Given the description of an element on the screen output the (x, y) to click on. 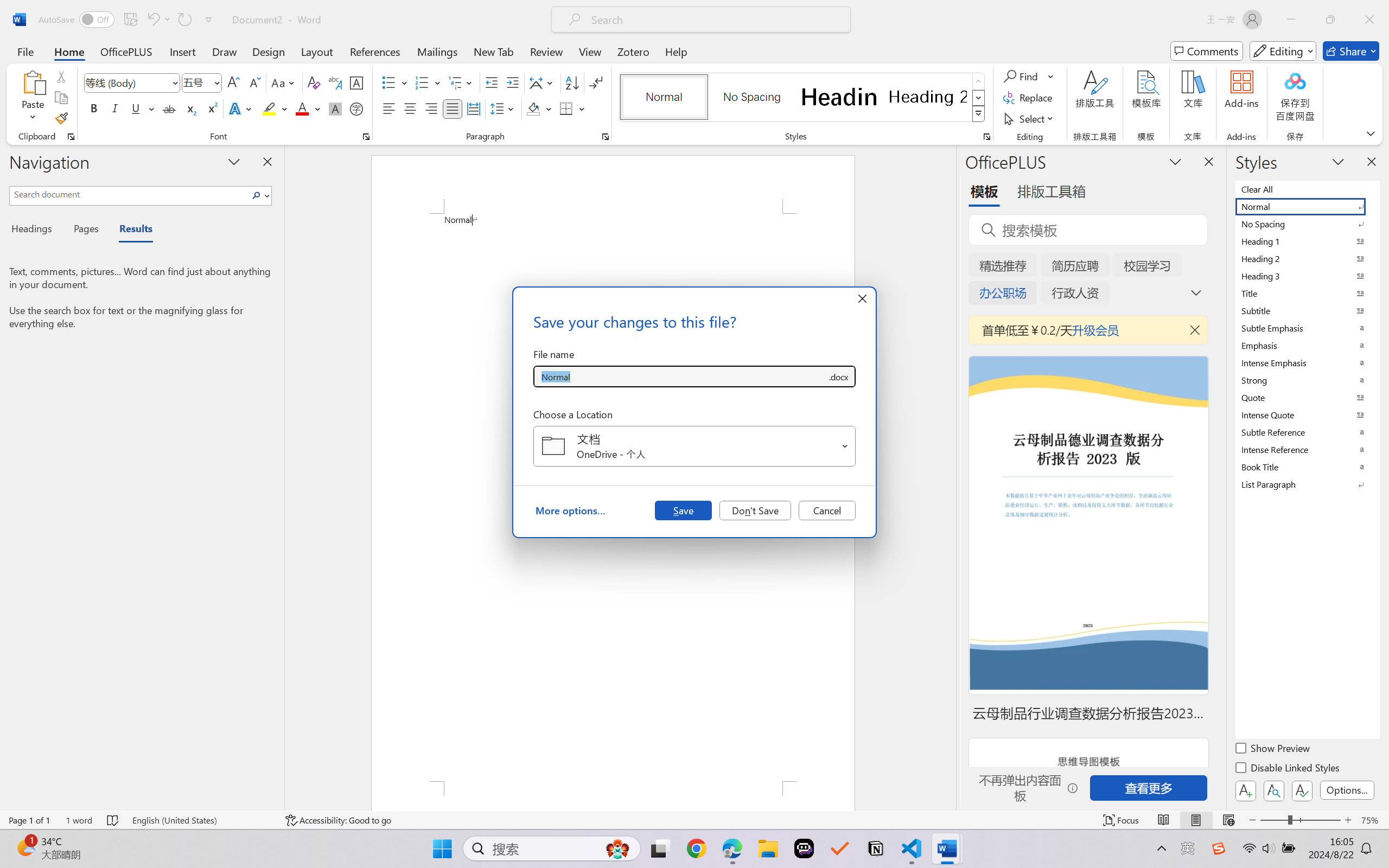
Quote (1306, 397)
AutomationID: BadgeAnchorLargeTicker (24, 847)
Search document (128, 193)
Paragraph... (605, 136)
Poe (804, 848)
Task Pane Options (1175, 161)
Copy (60, 97)
Paste (33, 97)
Cancel (826, 509)
Font... (365, 136)
Row up (978, 81)
